Given the description of an element on the screen output the (x, y) to click on. 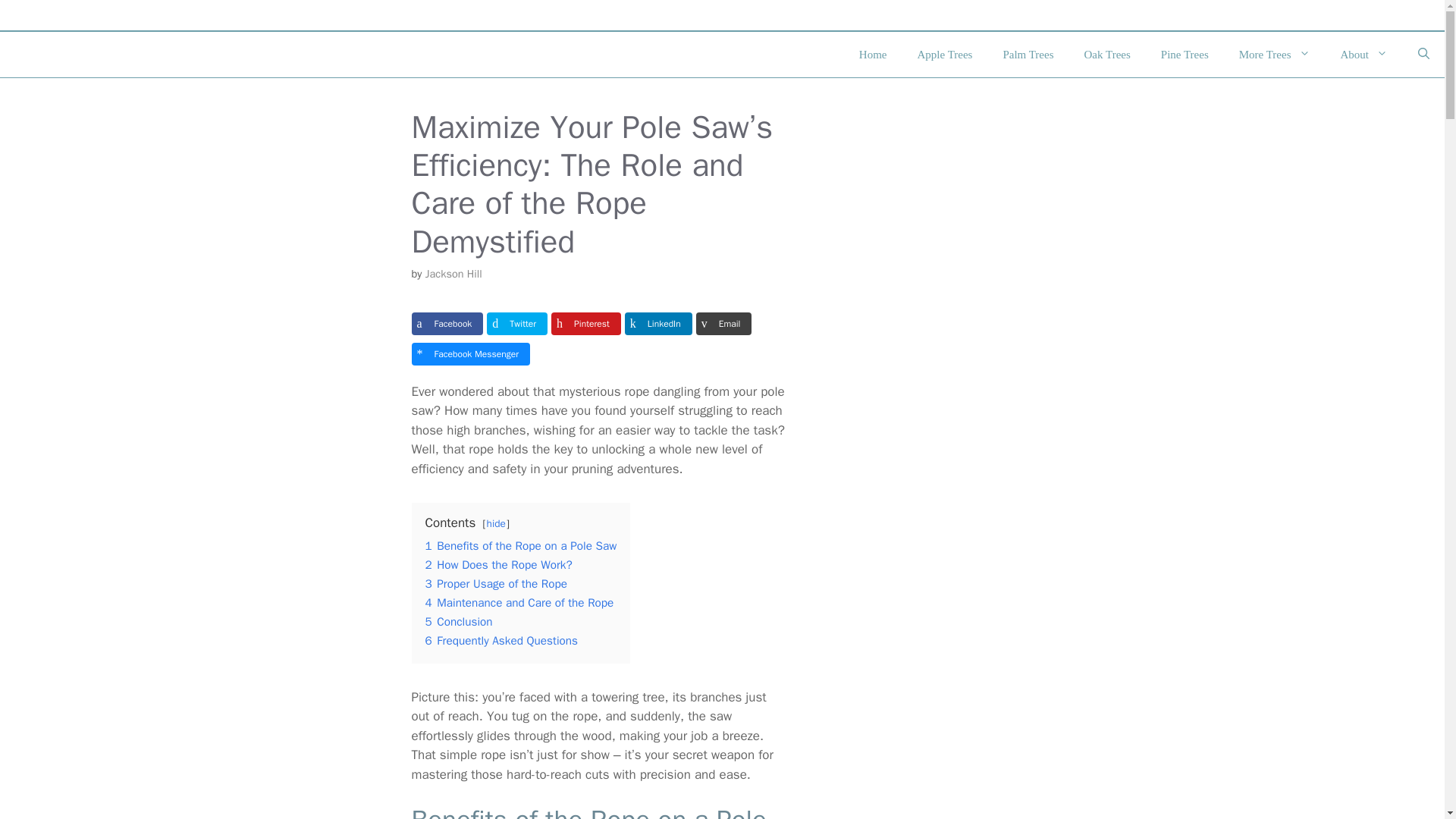
Share on Pinterest (586, 323)
Twitter (516, 323)
2 How Does the Rope Work? (498, 564)
4 Maintenance and Care of the Rope (518, 602)
3 Proper Usage of the Rope (495, 583)
About (1363, 53)
Share on Facebook (446, 323)
Share on Email (723, 323)
Pinterest (586, 323)
Jackson Hill (453, 273)
